Given the description of an element on the screen output the (x, y) to click on. 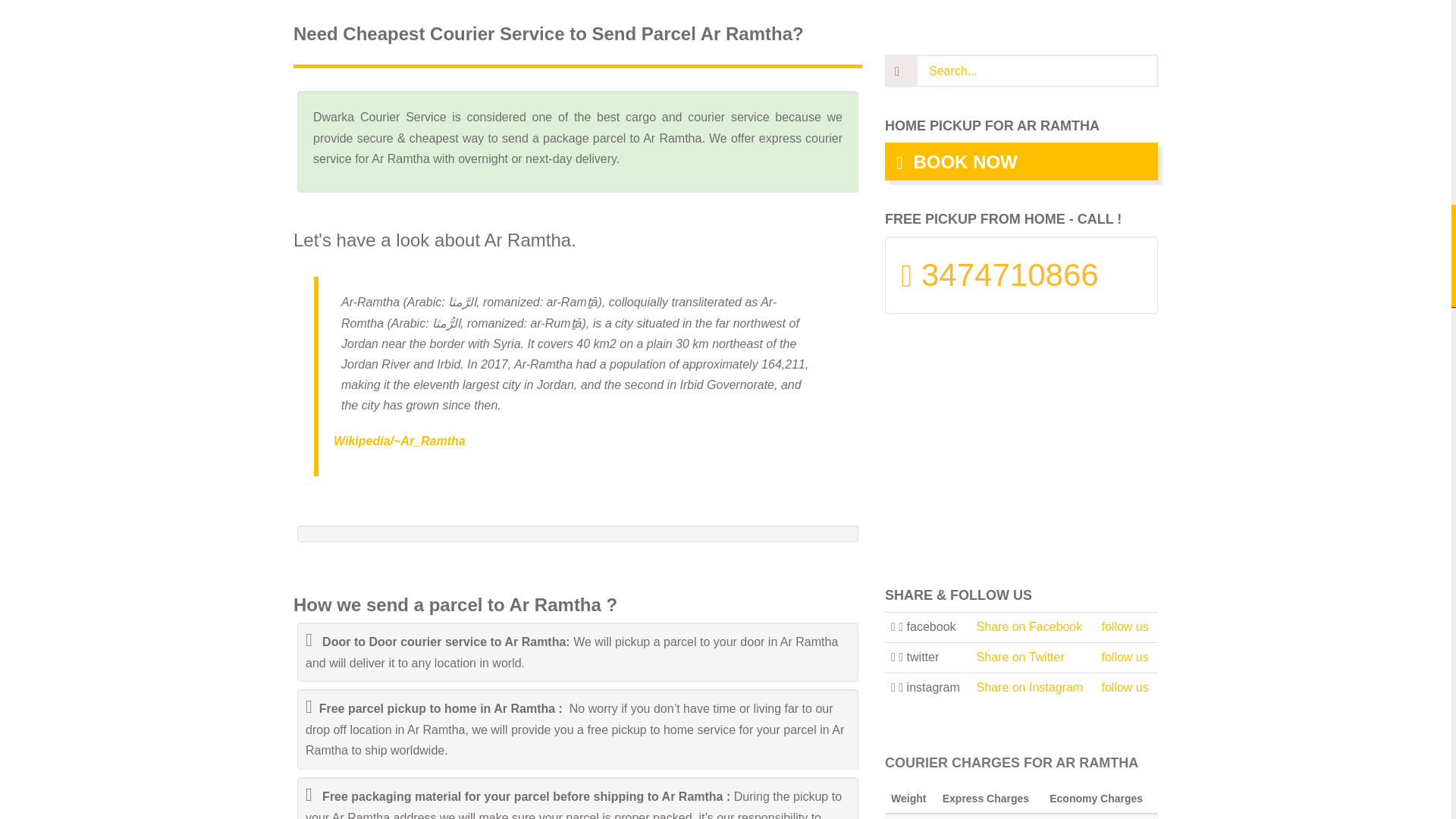
Share on Instagram (1029, 686)
follow us (1125, 656)
follow us (1125, 686)
Courier Service Number (1021, 269)
BOOK NOW (1021, 161)
Share on Facebook (1029, 626)
follow us (1125, 626)
BOOK NOW (1021, 161)
Share on Twitter (1020, 656)
